Given the description of an element on the screen output the (x, y) to click on. 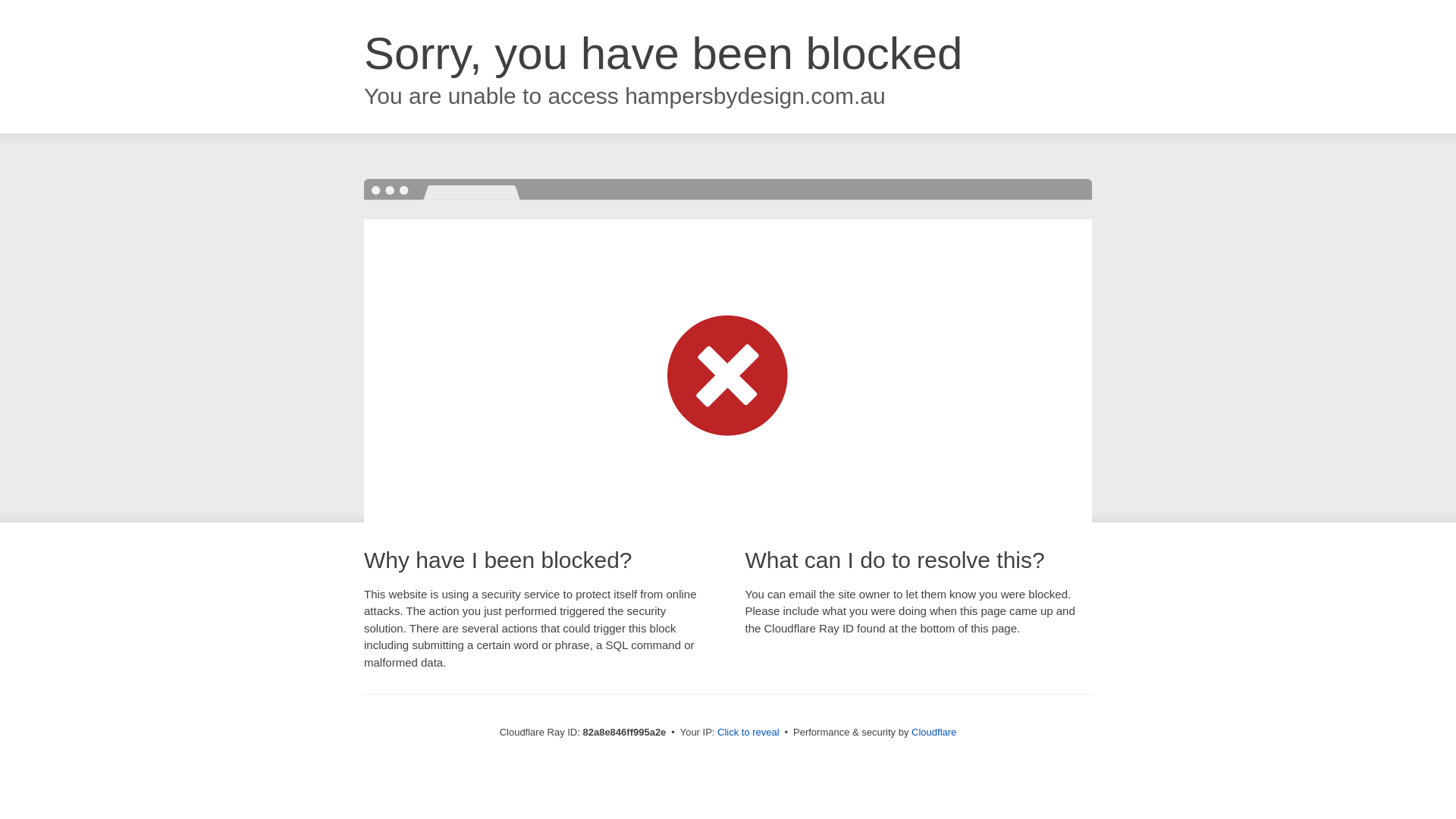
Click to reveal Element type: text (748, 732)
Cloudflare Element type: text (933, 731)
